Given the description of an element on the screen output the (x, y) to click on. 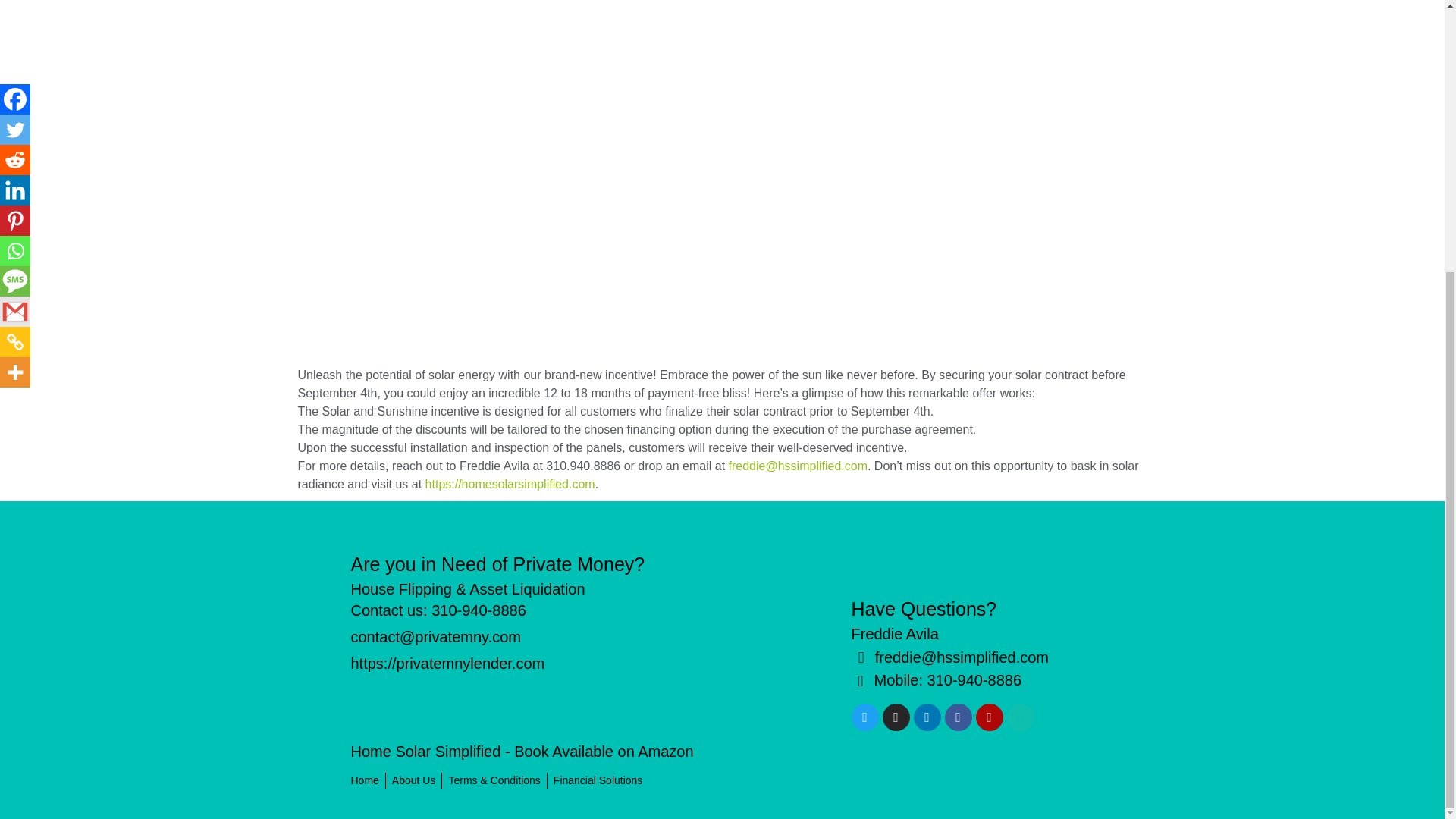
Mobile: 310-940-8886 (971, 680)
Contact us: 310-940-8886 (437, 610)
Home Solar Simplified - Book Available on Amazon (521, 751)
Home (364, 780)
